Given the description of an element on the screen output the (x, y) to click on. 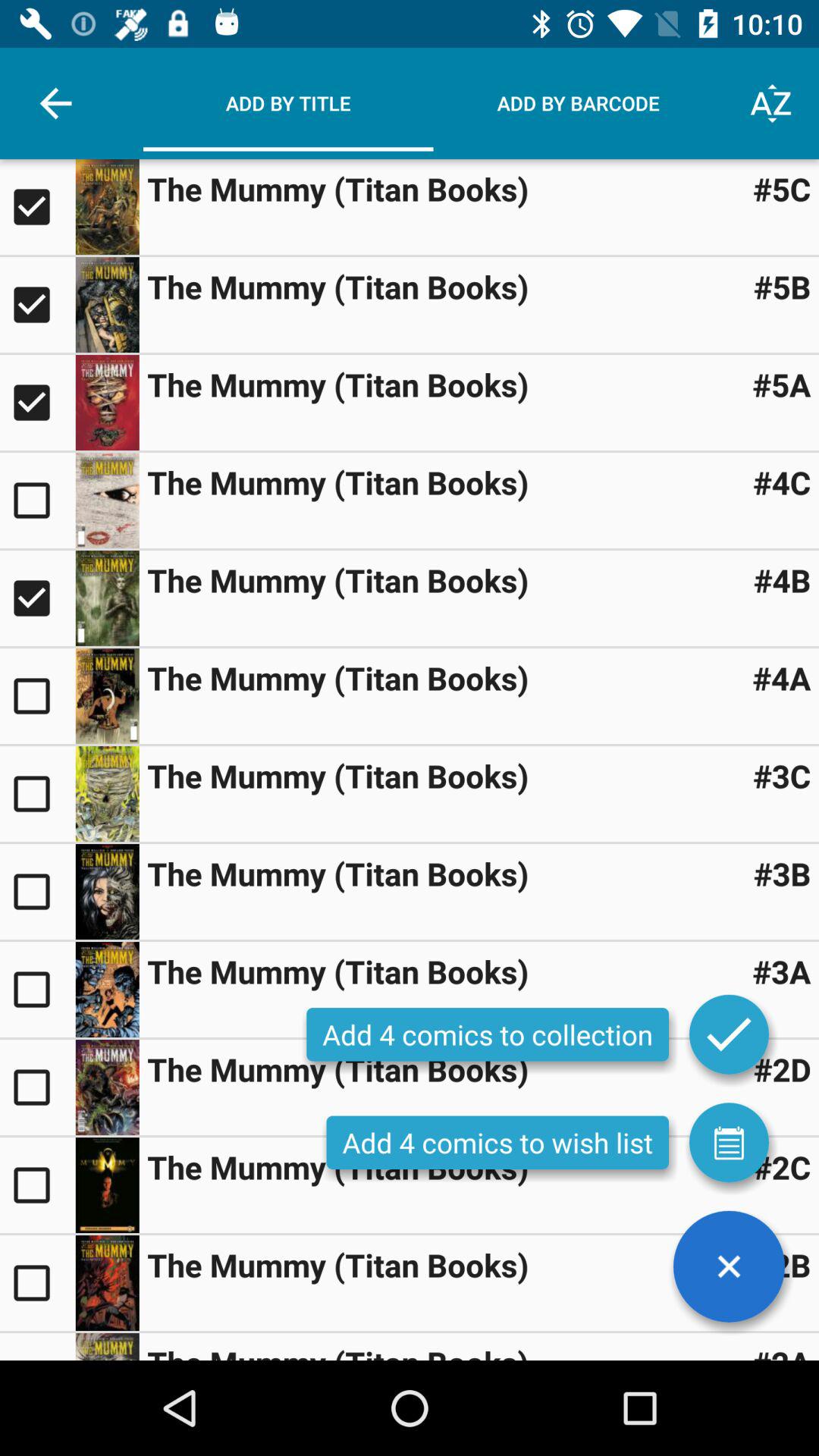
title checkbox (37, 598)
